Given the description of an element on the screen output the (x, y) to click on. 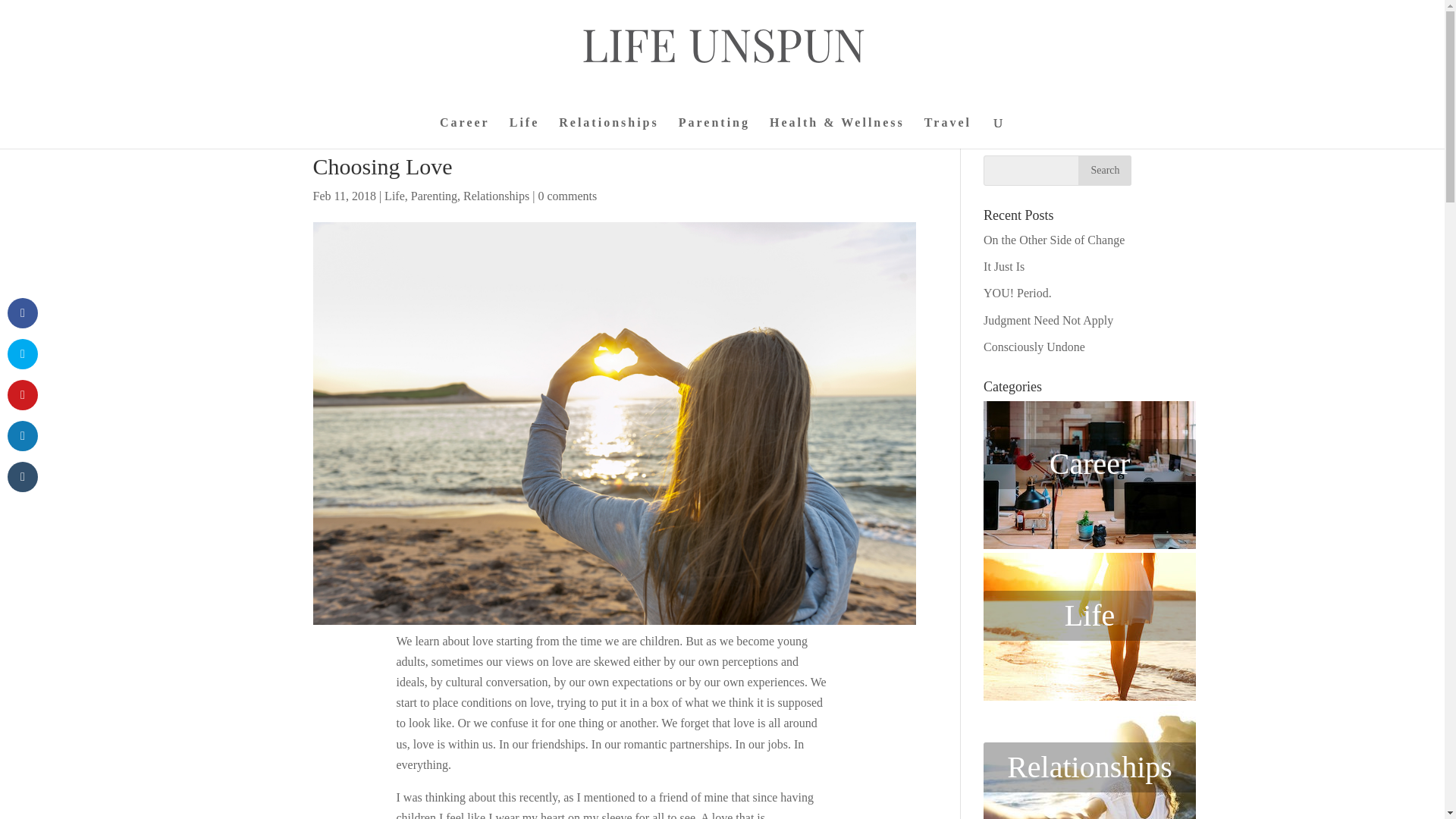
Travel (947, 132)
Judgment Need Not Apply (1048, 319)
Search (1104, 170)
0 comments (566, 195)
Relationships (608, 132)
Life (394, 195)
Search (1104, 170)
Career (464, 132)
It Just Is (1004, 266)
Parenting (713, 132)
